Given the description of an element on the screen output the (x, y) to click on. 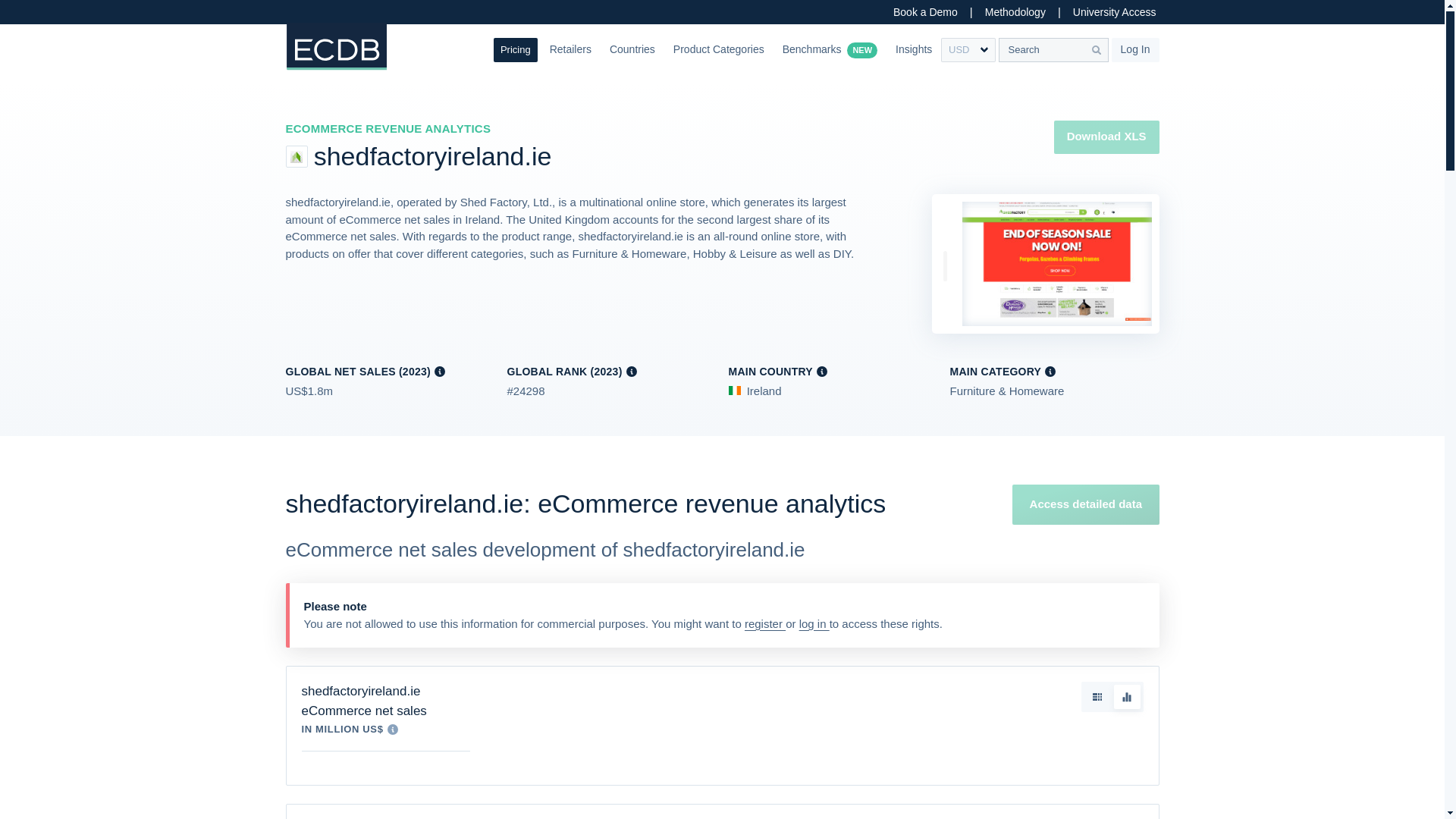
Switch to column chart (1126, 696)
Access detailed data (1084, 504)
log in (814, 623)
Benchmarks NEW (829, 49)
Switch to table (1097, 696)
Pricing (515, 49)
Methodology (1015, 12)
Log In (1135, 49)
register (765, 623)
